Given the description of an element on the screen output the (x, y) to click on. 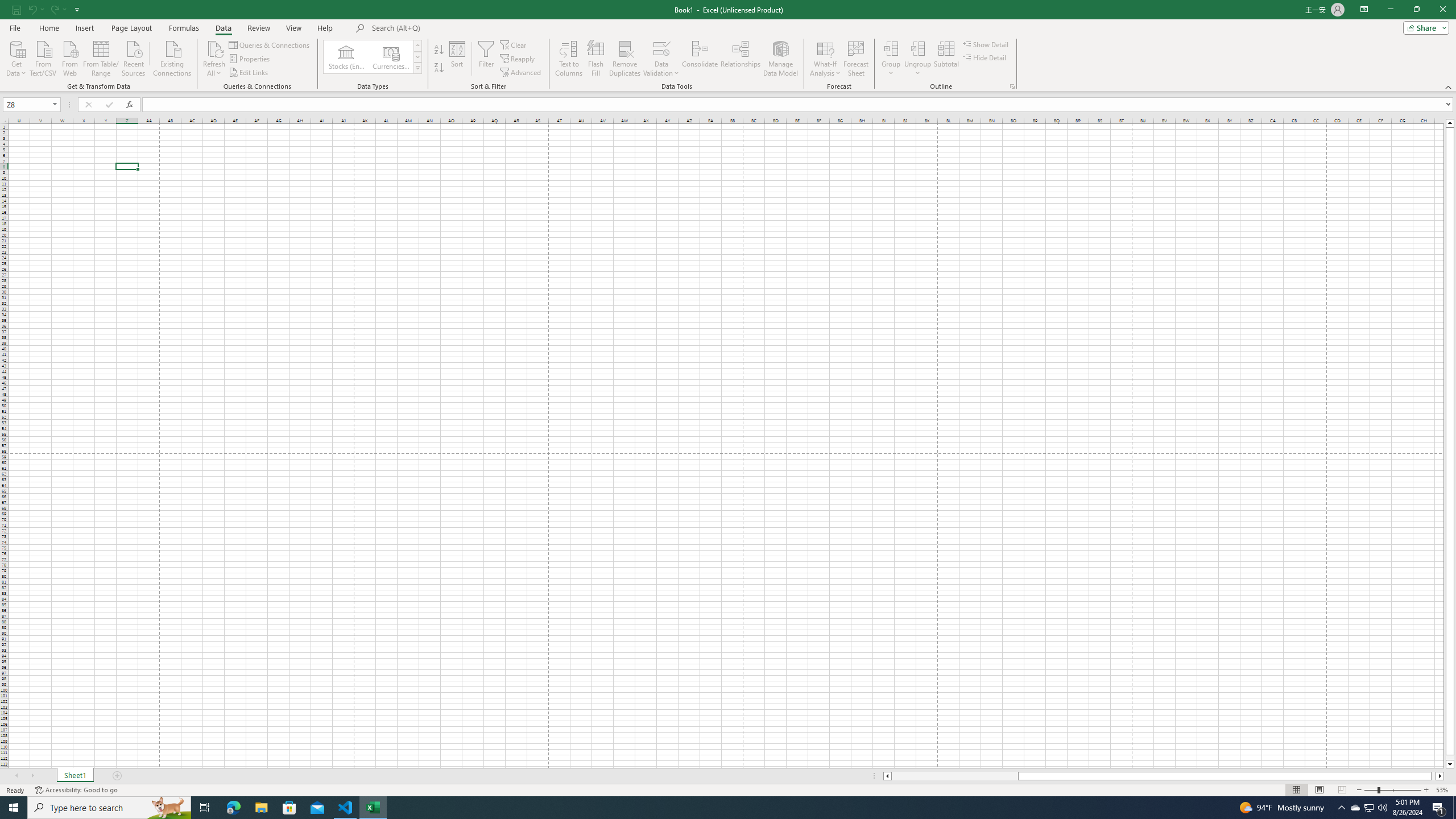
Review (258, 28)
Queries & Connections (270, 44)
Home (48, 28)
Collapse the Ribbon (1448, 86)
Zoom (1392, 790)
Remove Duplicates (625, 58)
Zoom Out (1370, 790)
Group... (890, 48)
From Table/Range (100, 57)
Microsoft search (450, 28)
Line down (1449, 764)
Share (1423, 27)
Line up (1449, 122)
